Given the description of an element on the screen output the (x, y) to click on. 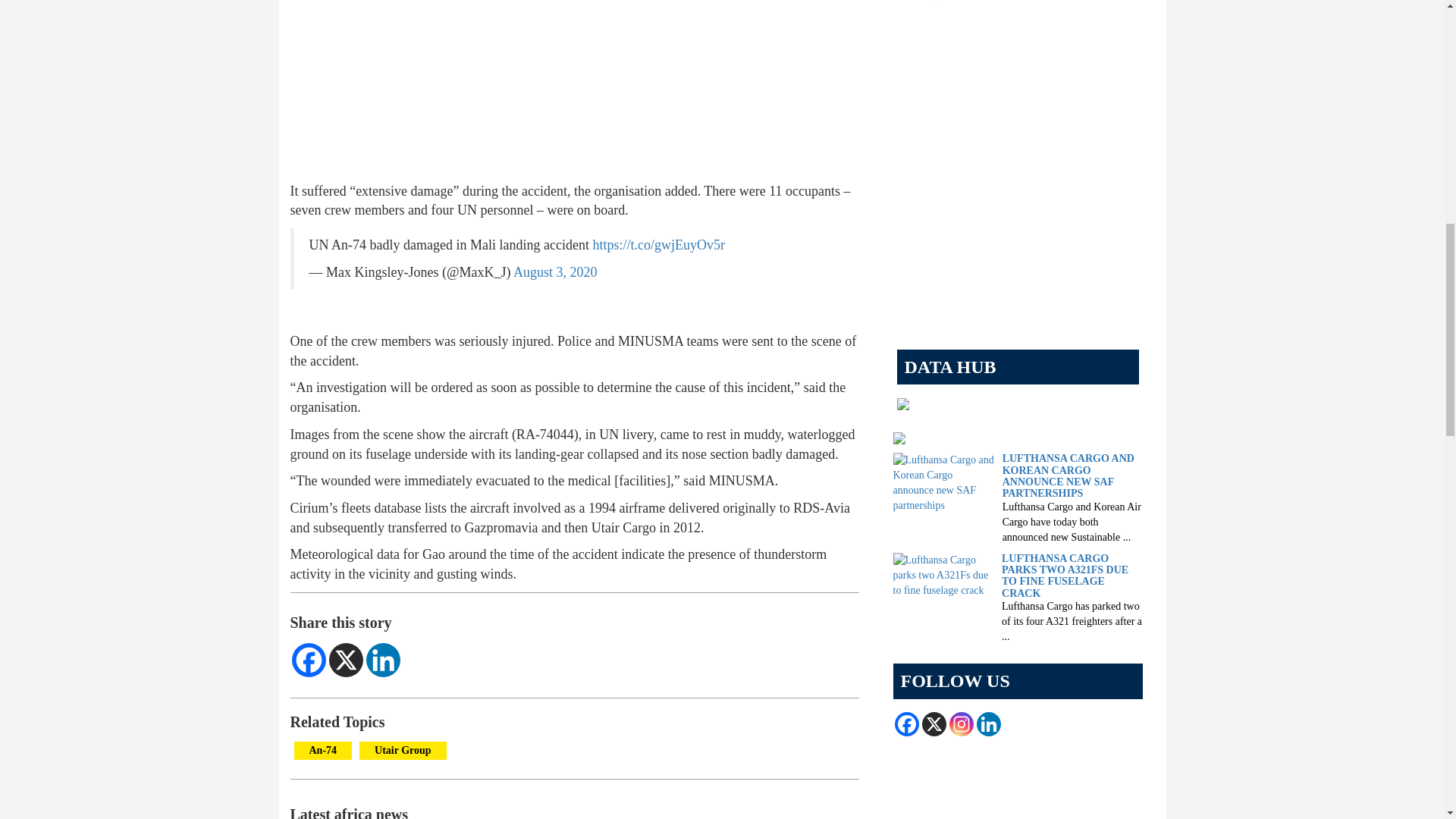
Lufthansa Cargo parks two A321Fs due to fine fuselage crack (943, 573)
Linkedin (381, 659)
Facebook (307, 659)
X (345, 659)
